Given the description of an element on the screen output the (x, y) to click on. 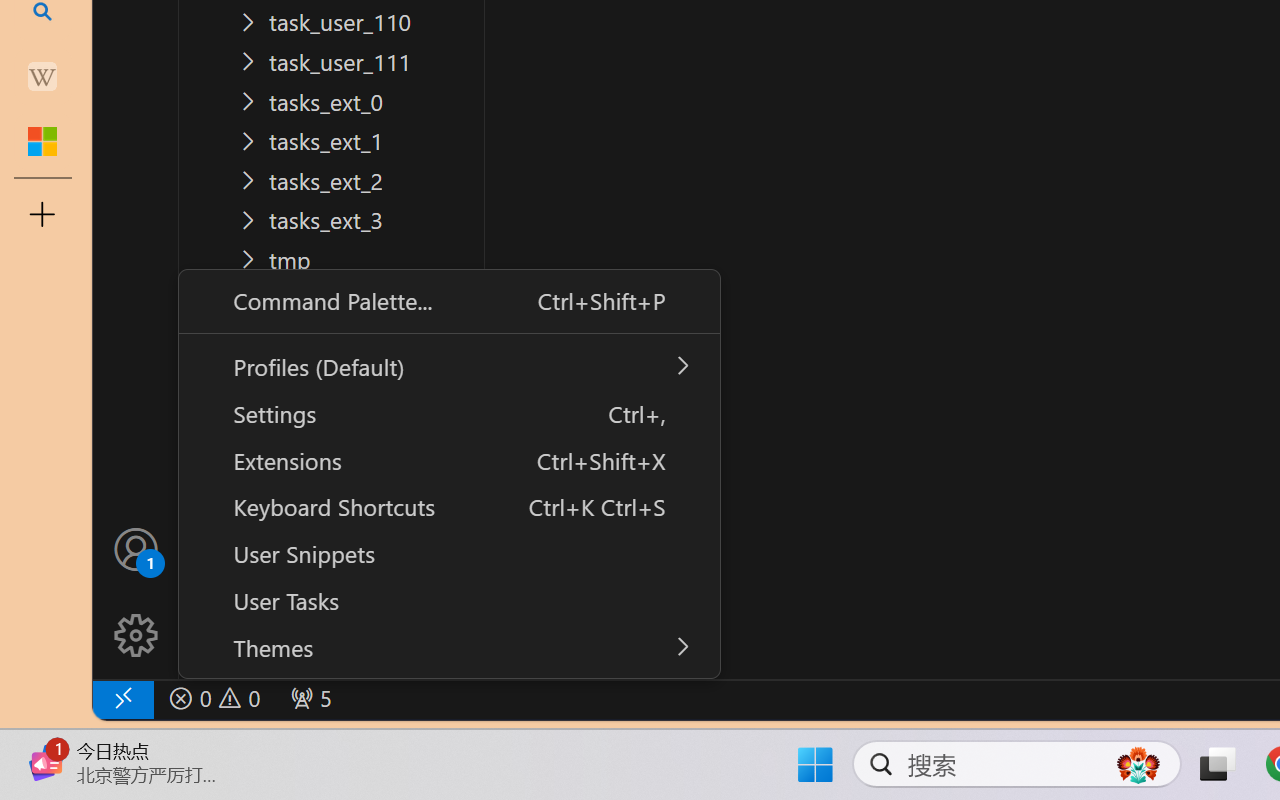
remote (122, 698)
Extensions Ctrl+Shift+X (448, 460)
User Tasks (448, 600)
Class: actions-container (448, 473)
Settings Ctrl+, (448, 412)
Timeline Section (331, 658)
